Given the description of an element on the screen output the (x, y) to click on. 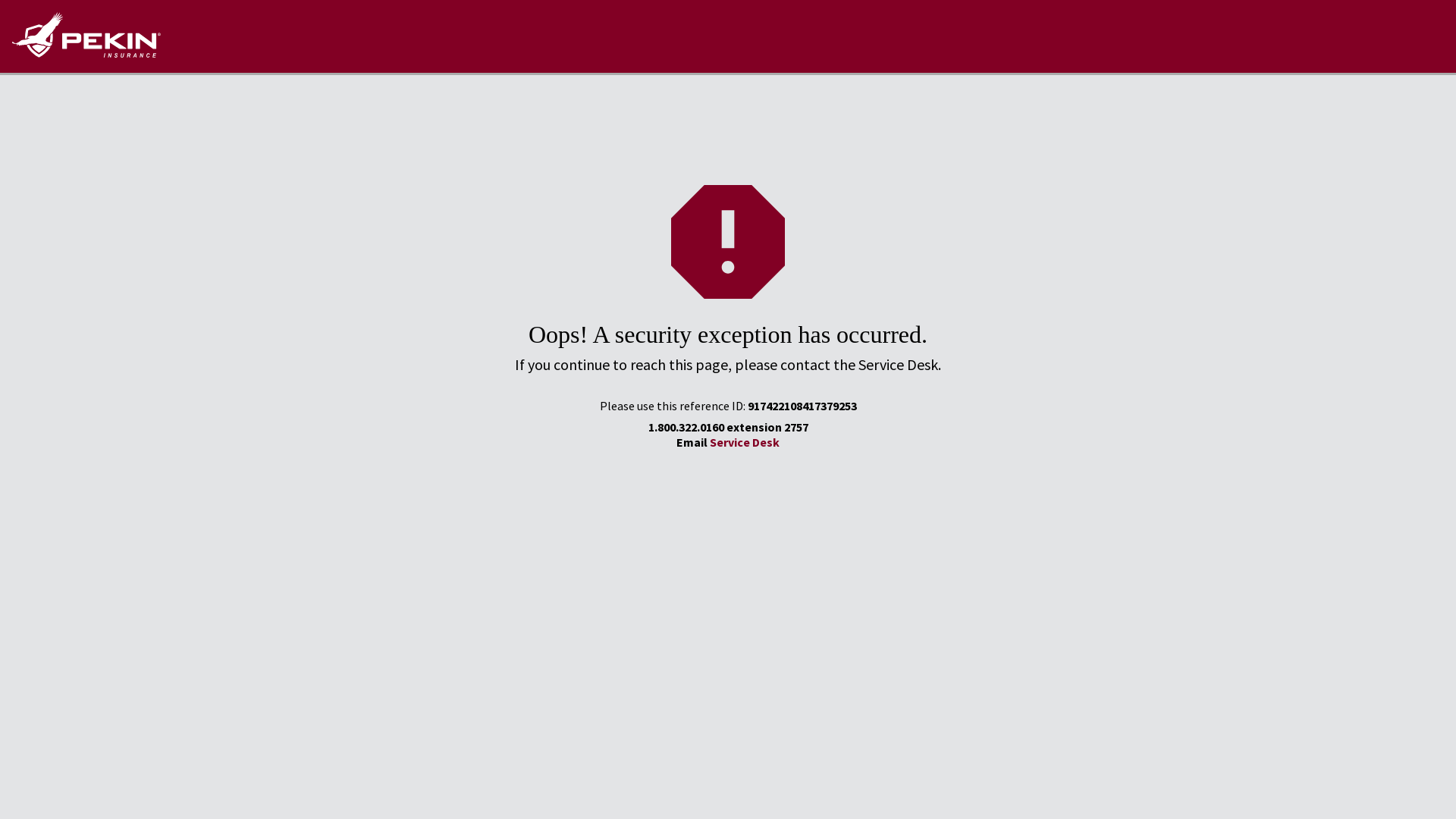
Service Desk Element type: text (744, 441)
